Given the description of an element on the screen output the (x, y) to click on. 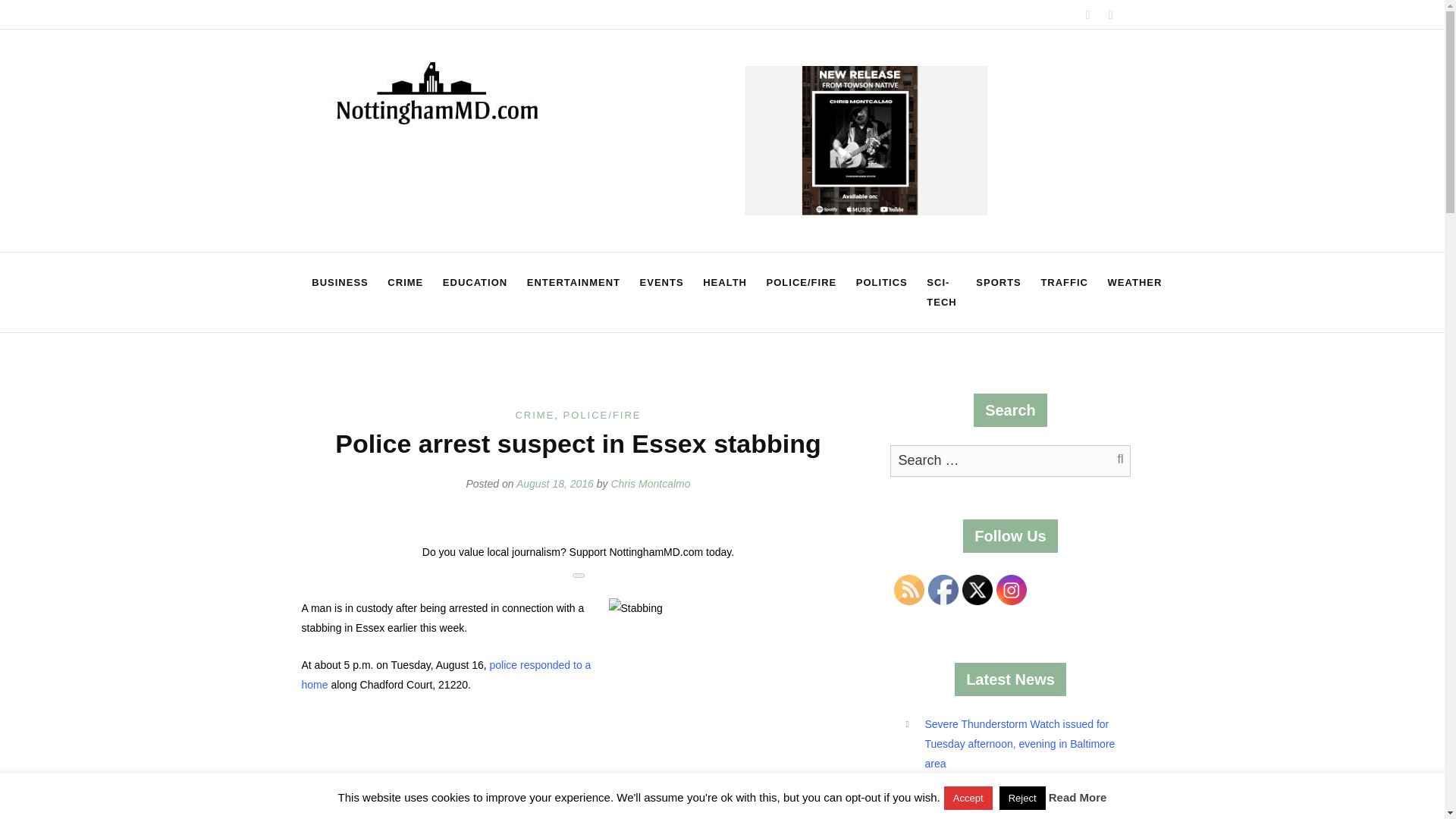
EDUCATION (474, 282)
HEALTH (724, 282)
Sports (998, 282)
Weather (1134, 282)
SPORTS (998, 282)
Politics (881, 282)
Business (339, 282)
POLITICS (881, 282)
CRIME (405, 282)
Entertainment (573, 282)
Events (662, 282)
ENTERTAINMENT (573, 282)
CRIME (534, 414)
Crime (405, 282)
Search (1112, 460)
